Given the description of an element on the screen output the (x, y) to click on. 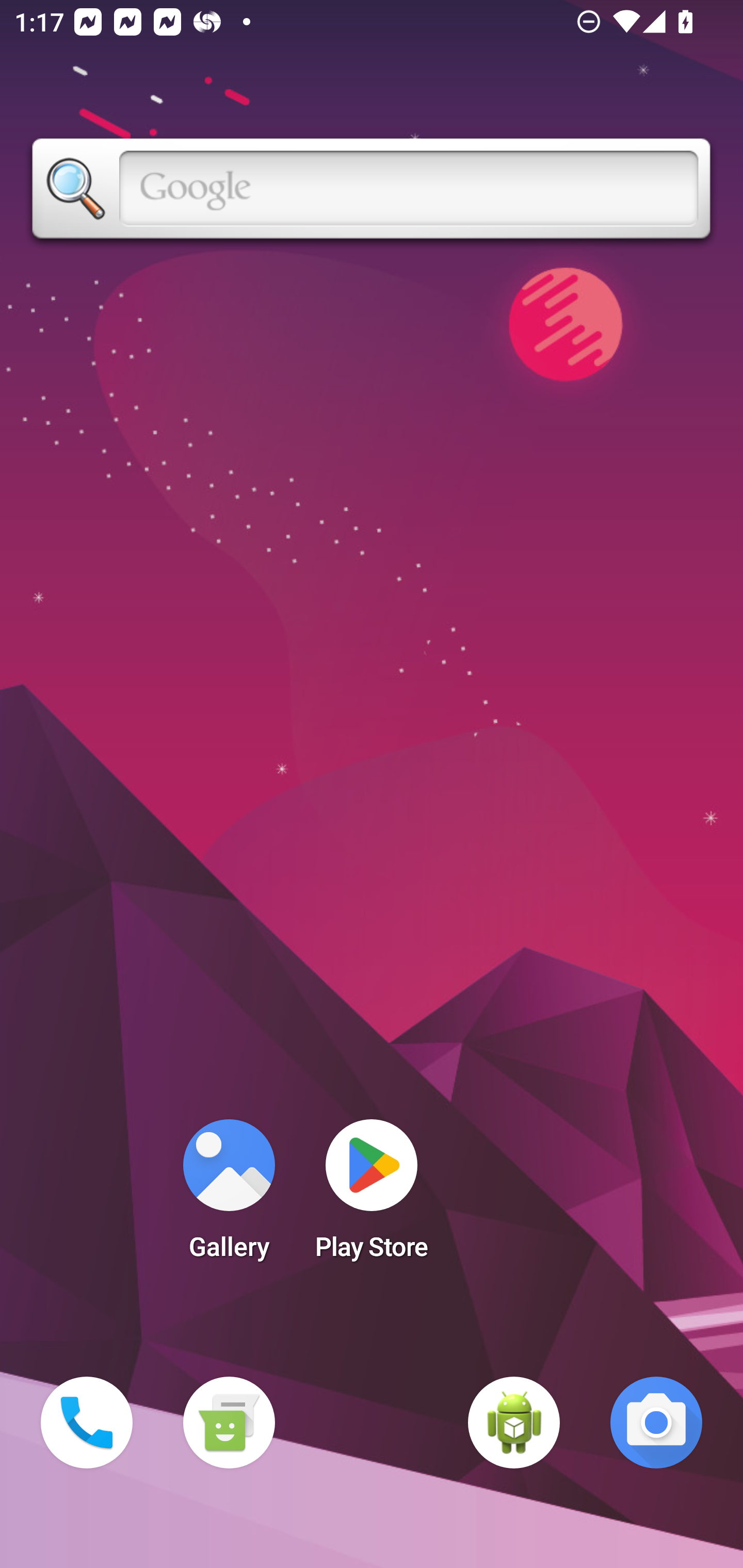
Gallery (228, 1195)
Play Store (371, 1195)
Phone (86, 1422)
Messaging (228, 1422)
WebView Browser Tester (513, 1422)
Camera (656, 1422)
